Given the description of an element on the screen output the (x, y) to click on. 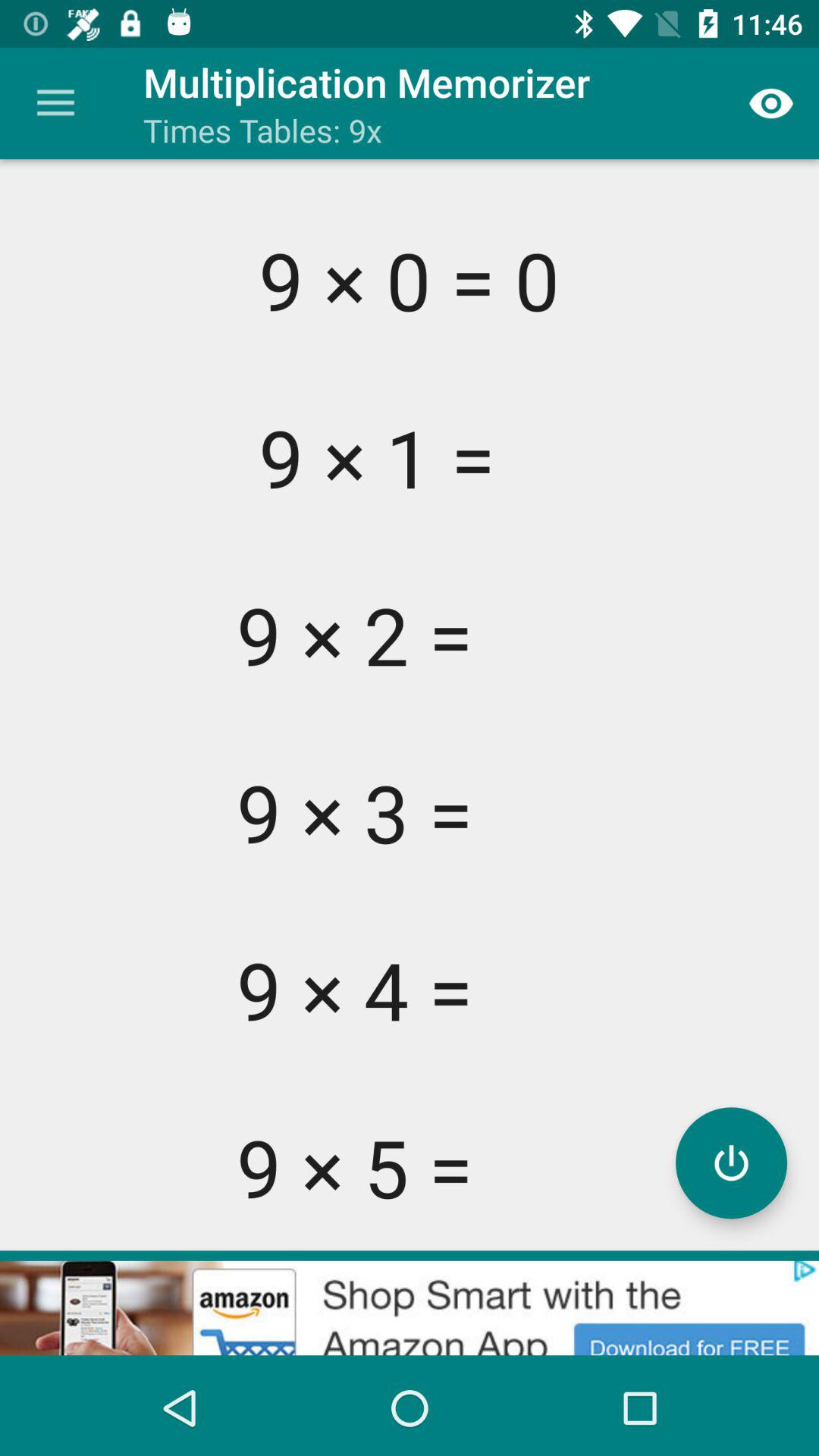
click to poweroff option (731, 1162)
